Given the description of an element on the screen output the (x, y) to click on. 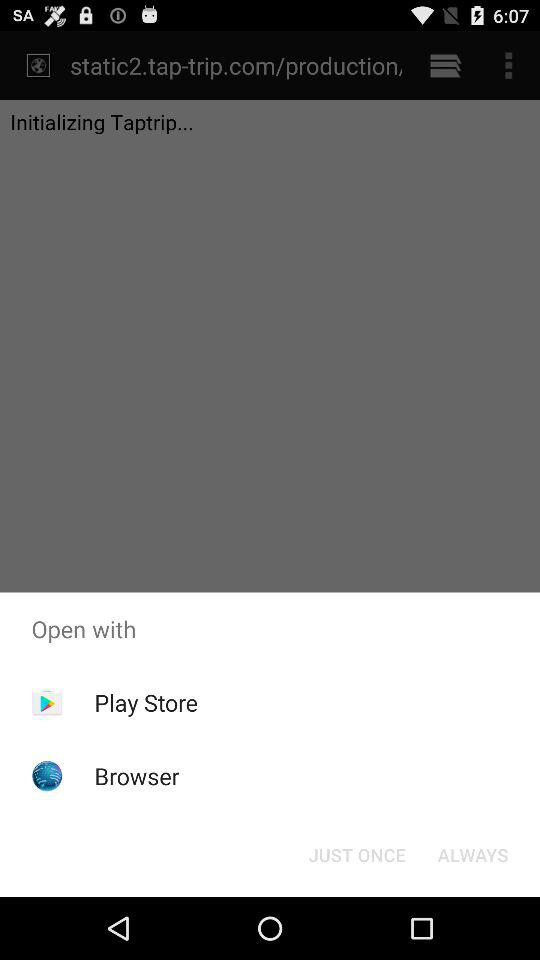
flip until browser icon (136, 775)
